Given the description of an element on the screen output the (x, y) to click on. 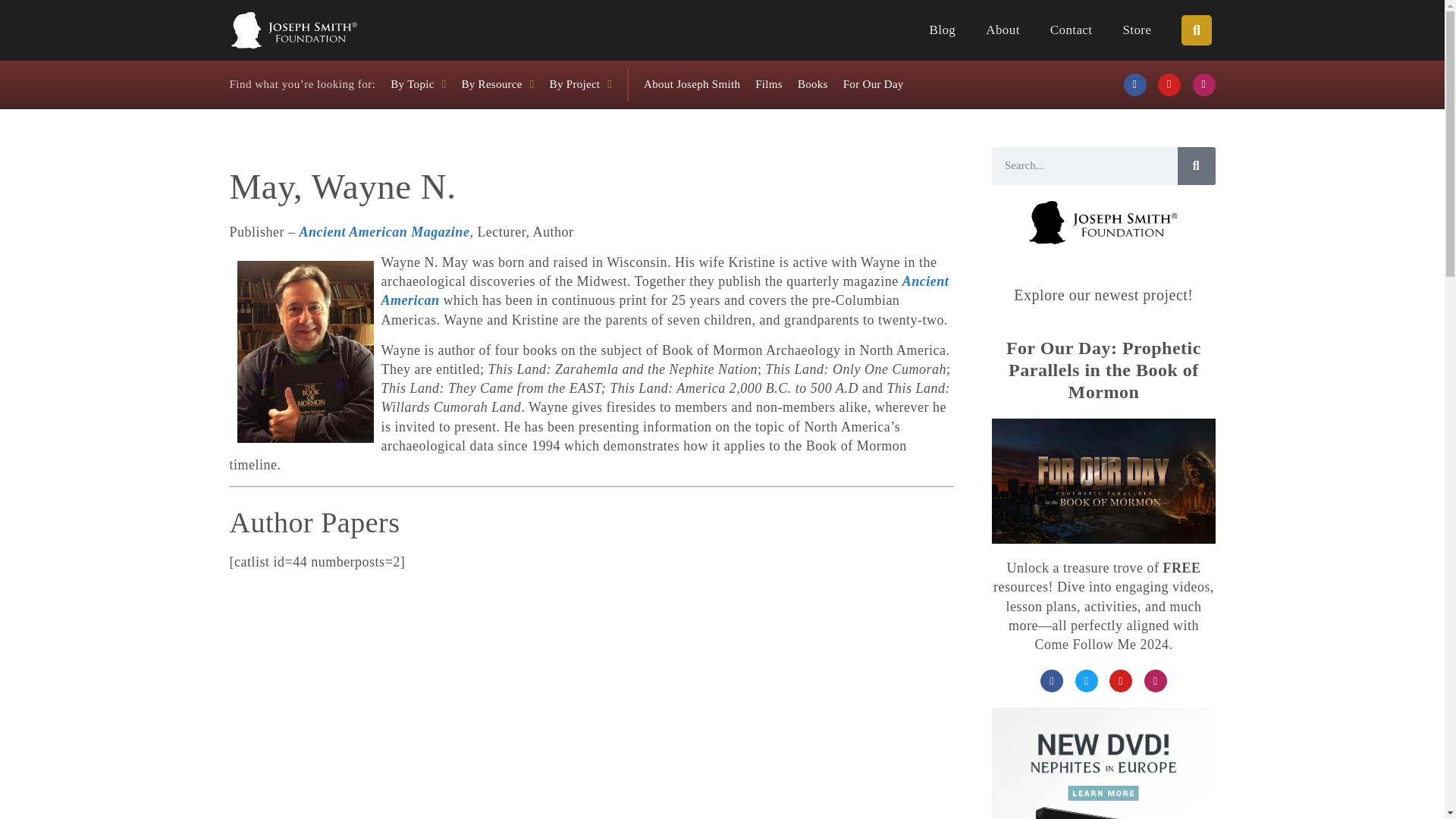
Store (1136, 30)
Contact (1071, 30)
About (1002, 30)
